Given the description of an element on the screen output the (x, y) to click on. 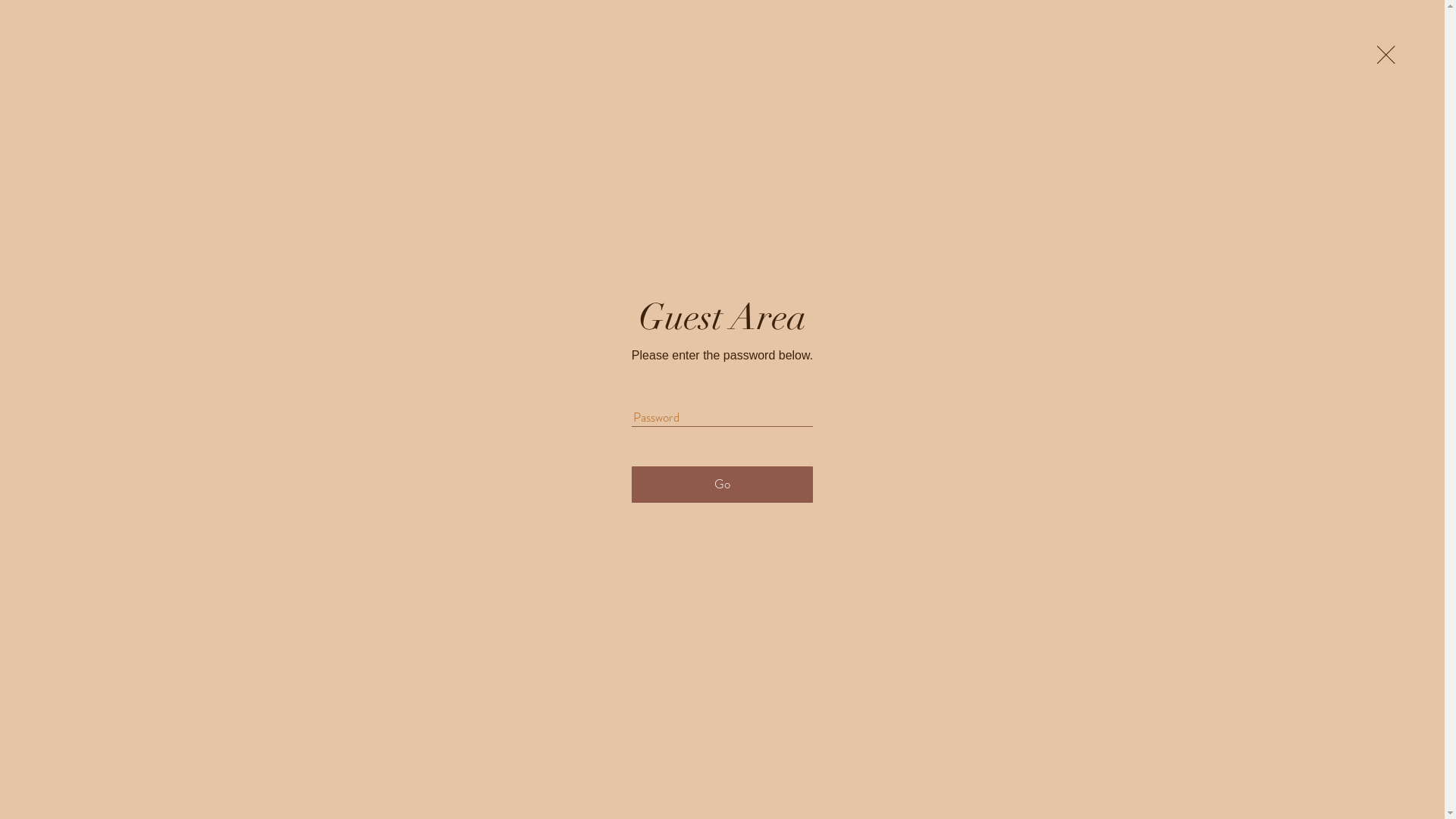
Go Element type: text (721, 484)
